Given the description of an element on the screen output the (x, y) to click on. 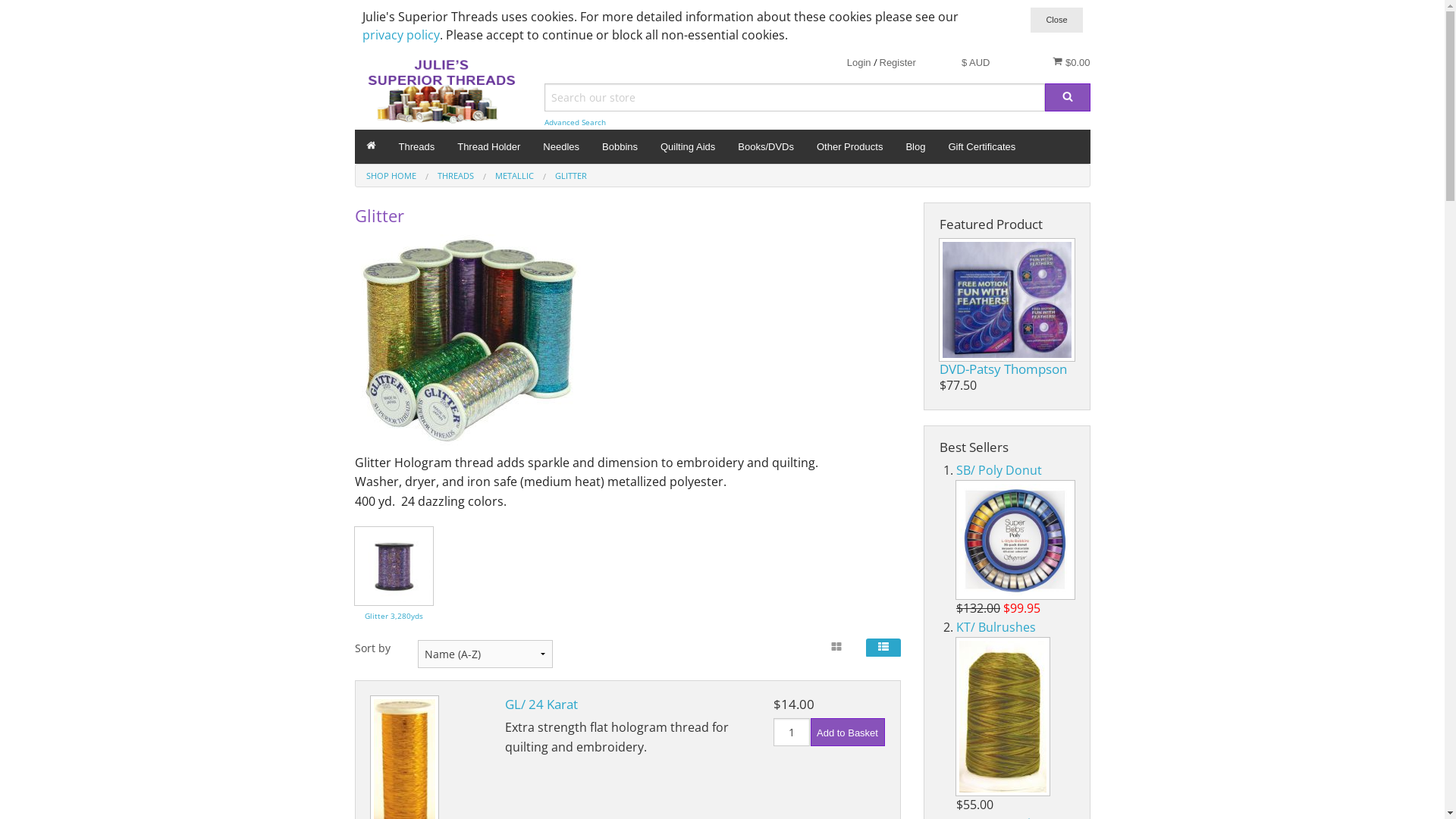
SHOP HOME Element type: text (390, 175)
DVD-Patsy Thompson Element type: hover (1005, 299)
Books/DVDs Element type: text (765, 146)
KT/ Bulrushes Element type: hover (1002, 716)
Sort Element type: text (18, 10)
Thread Holder Element type: text (488, 146)
THREADS Element type: text (454, 175)
Register Element type: text (897, 62)
GL/ 24 Karat Element type: text (541, 703)
METALLIC Element type: text (513, 175)
KT/ Bulrushes Element type: text (995, 626)
Blog Element type: text (915, 146)
privacy policy Element type: text (400, 34)
Other Products Element type: text (849, 146)
Close Element type: text (1056, 19)
Shop Home Element type: hover (370, 146)
SB/ Poly Donut Element type: hover (1015, 539)
Bobbins Element type: text (619, 146)
Search Element type: text (1067, 97)
Advanced Search Element type: text (574, 122)
$0.00 Element type: text (1070, 62)
Glitter 3,280yds Element type: text (393, 613)
Quilting Aids Element type: text (687, 146)
Login Element type: text (859, 62)
Add to Basket Element type: text (846, 732)
Threads Element type: text (415, 146)
GLITTER Element type: text (570, 175)
Glitter 3,280yds Element type: hover (393, 564)
Needles Element type: text (560, 146)
SB/ Poly Donut Element type: text (998, 469)
DVD-Patsy Thompson Element type: text (1002, 368)
Gift Certificates Element type: text (981, 146)
